Given the description of an element on the screen output the (x, y) to click on. 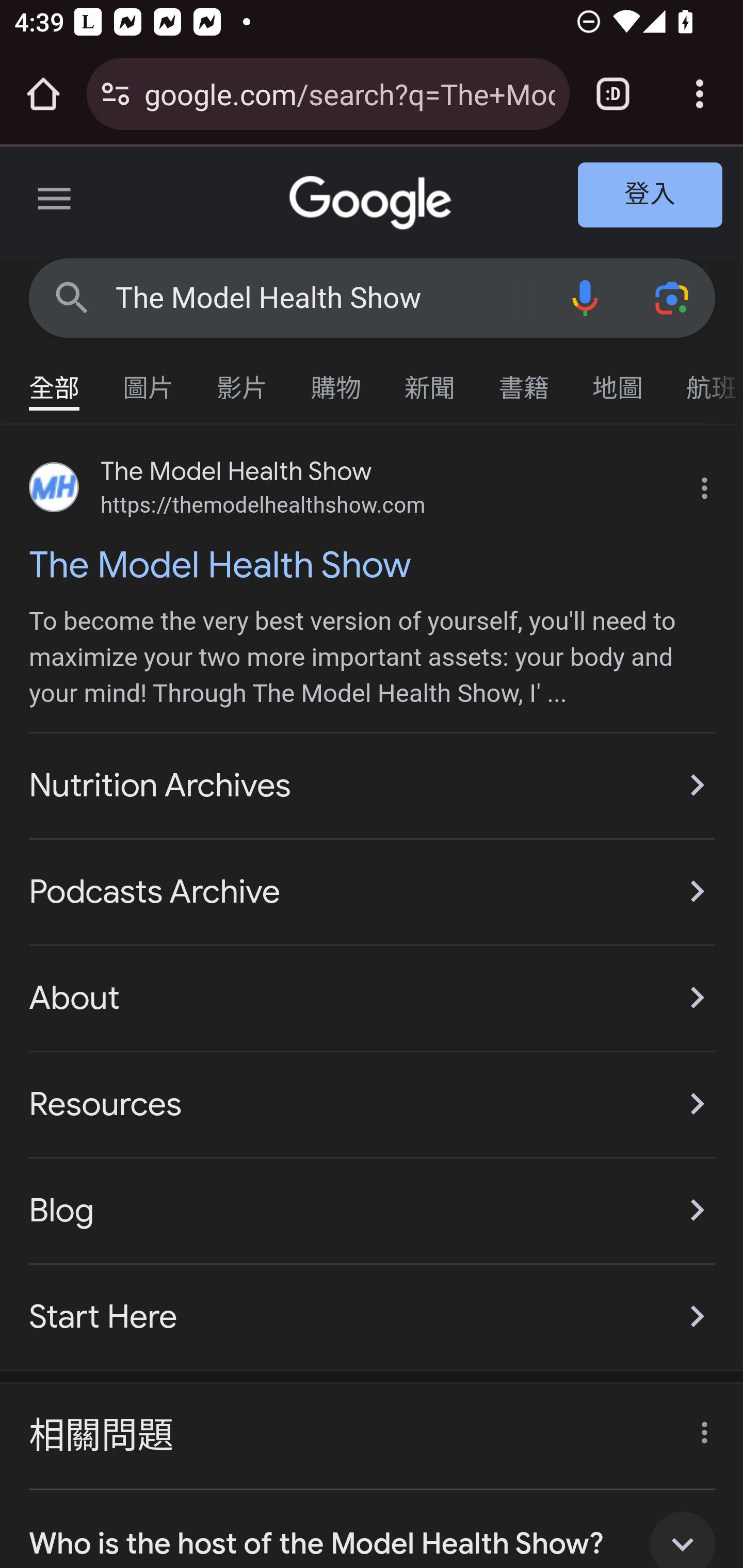
Open the home page (43, 93)
Connection is secure (115, 93)
Switch or close tabs (612, 93)
Customize and control Google Chrome (699, 93)
主選單 (54, 202)
Google (372, 203)
登入 (650, 195)
Google 搜尋 (71, 296)
使用相機或相片搜尋 (672, 296)
The Model Health Show (328, 297)
圖片 (148, 378)
影片 (242, 378)
購物 (336, 378)
新聞 (430, 378)
書籍 (524, 378)
地圖 (618, 378)
航班 (703, 378)
The Model Health Show (372, 564)
Nutrition Archives (372, 785)
Podcasts Archive (372, 891)
About (372, 997)
Resources (372, 1103)
Blog (372, 1210)
Start Here (372, 1305)
關於此結果 (698, 1426)
Who is the host of the Model Health Show? (372, 1528)
